Given the description of an element on the screen output the (x, y) to click on. 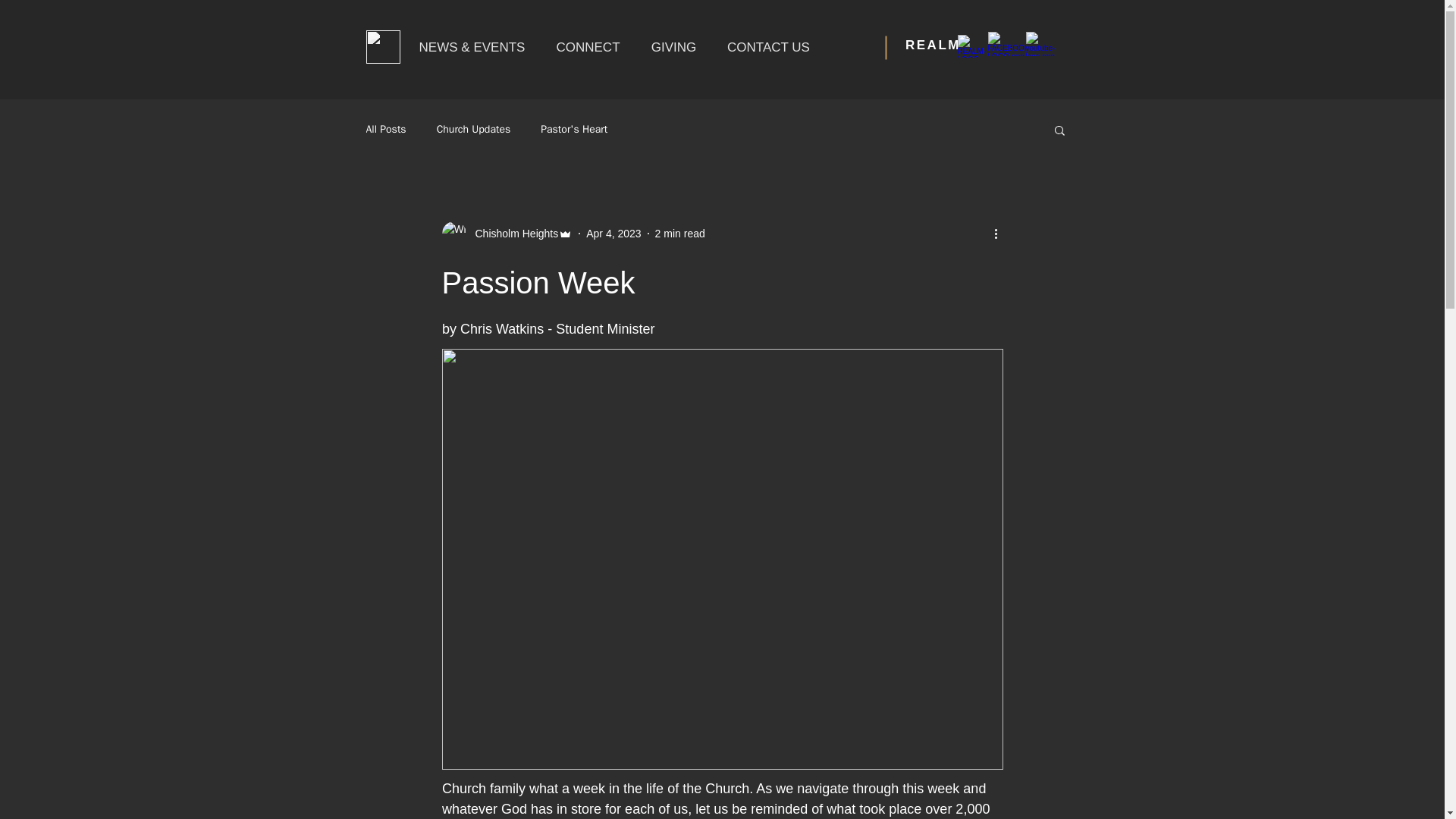
GIVING (672, 47)
Pastor's Heart (573, 129)
Church Updates (473, 129)
Apr 4, 2023 (613, 233)
All Posts (385, 129)
CONTACT US (767, 47)
CONNECT (587, 47)
2 min read (679, 233)
Chisholm Heights (511, 233)
REALM (932, 44)
